Given the description of an element on the screen output the (x, y) to click on. 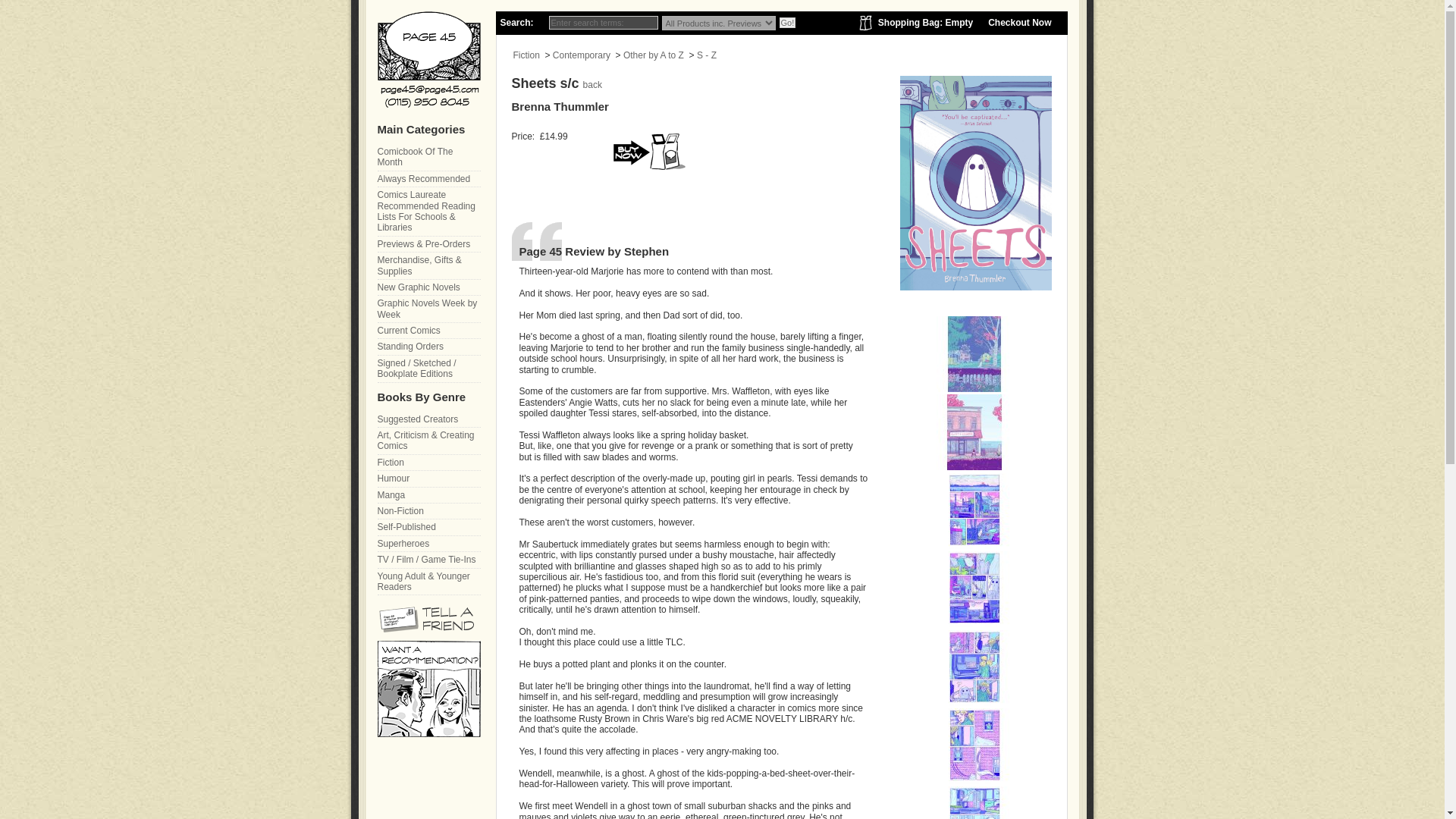
New Graphic Novels (428, 287)
back (592, 84)
Non-Fiction (428, 511)
View Your Shopping Bag (924, 22)
Fiction (428, 462)
Comicbook Of The Month (428, 157)
Ask Page 45 for a recommendation (428, 733)
Go! (787, 22)
Checkout from the shop (1019, 22)
Manga (428, 495)
Standing Orders (428, 346)
Go back to the Page 45 Home Page (428, 59)
Graphic Novels Week by Week (428, 308)
Go! (787, 22)
Contemporary (581, 54)
